Given the description of an element on the screen output the (x, y) to click on. 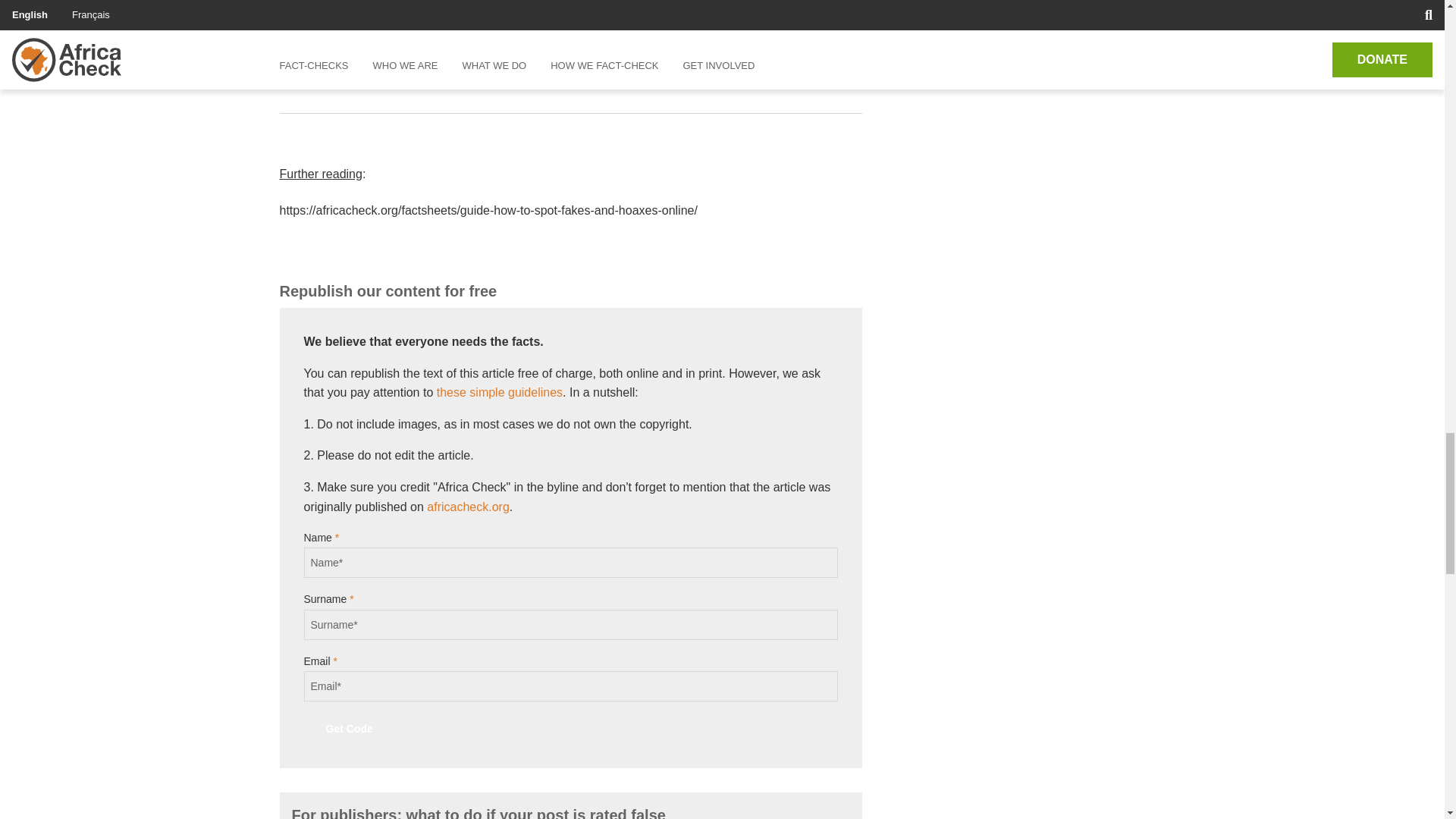
Get Code (348, 728)
